Given the description of an element on the screen output the (x, y) to click on. 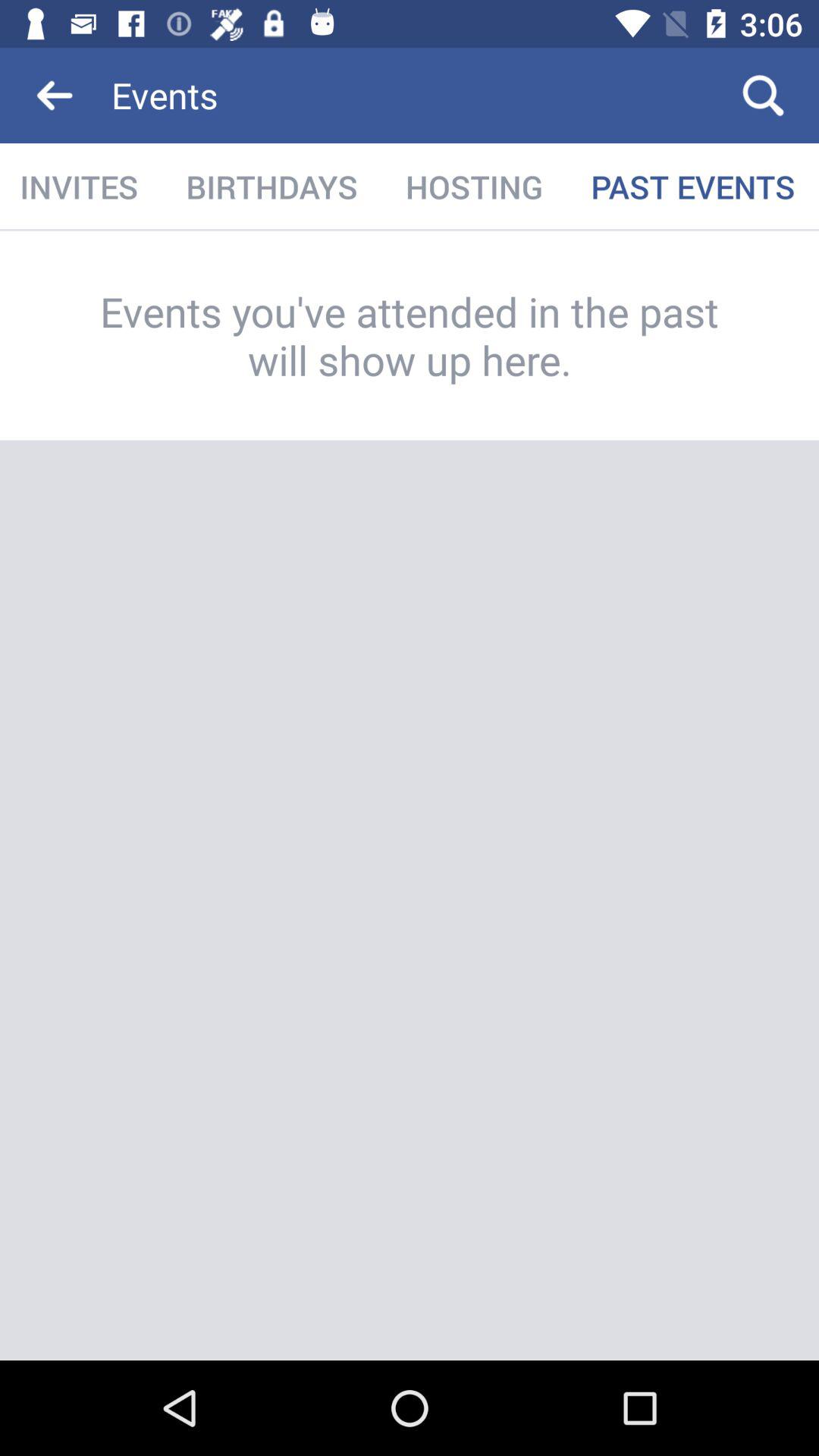
turn off the item to the right of invites (271, 186)
